Given the description of an element on the screen output the (x, y) to click on. 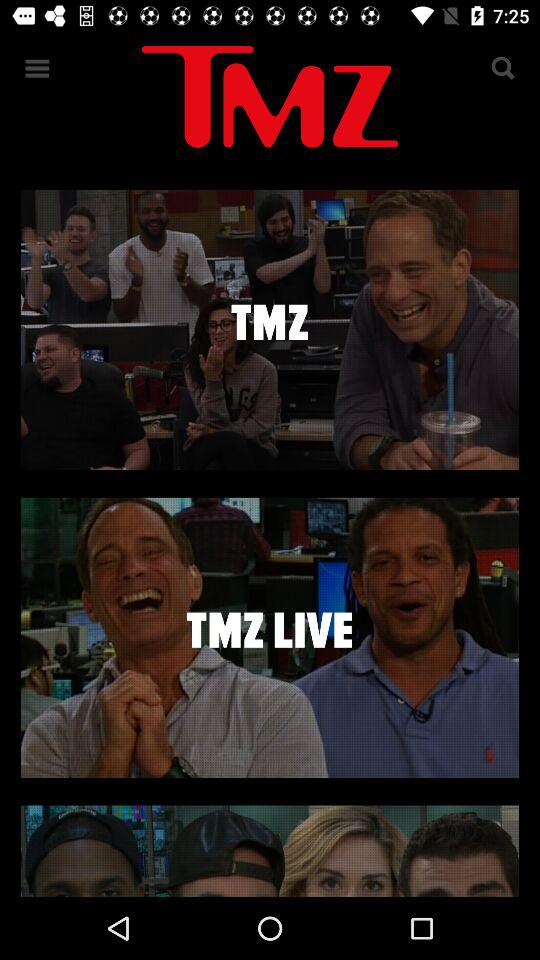
search site (502, 68)
